Given the description of an element on the screen output the (x, y) to click on. 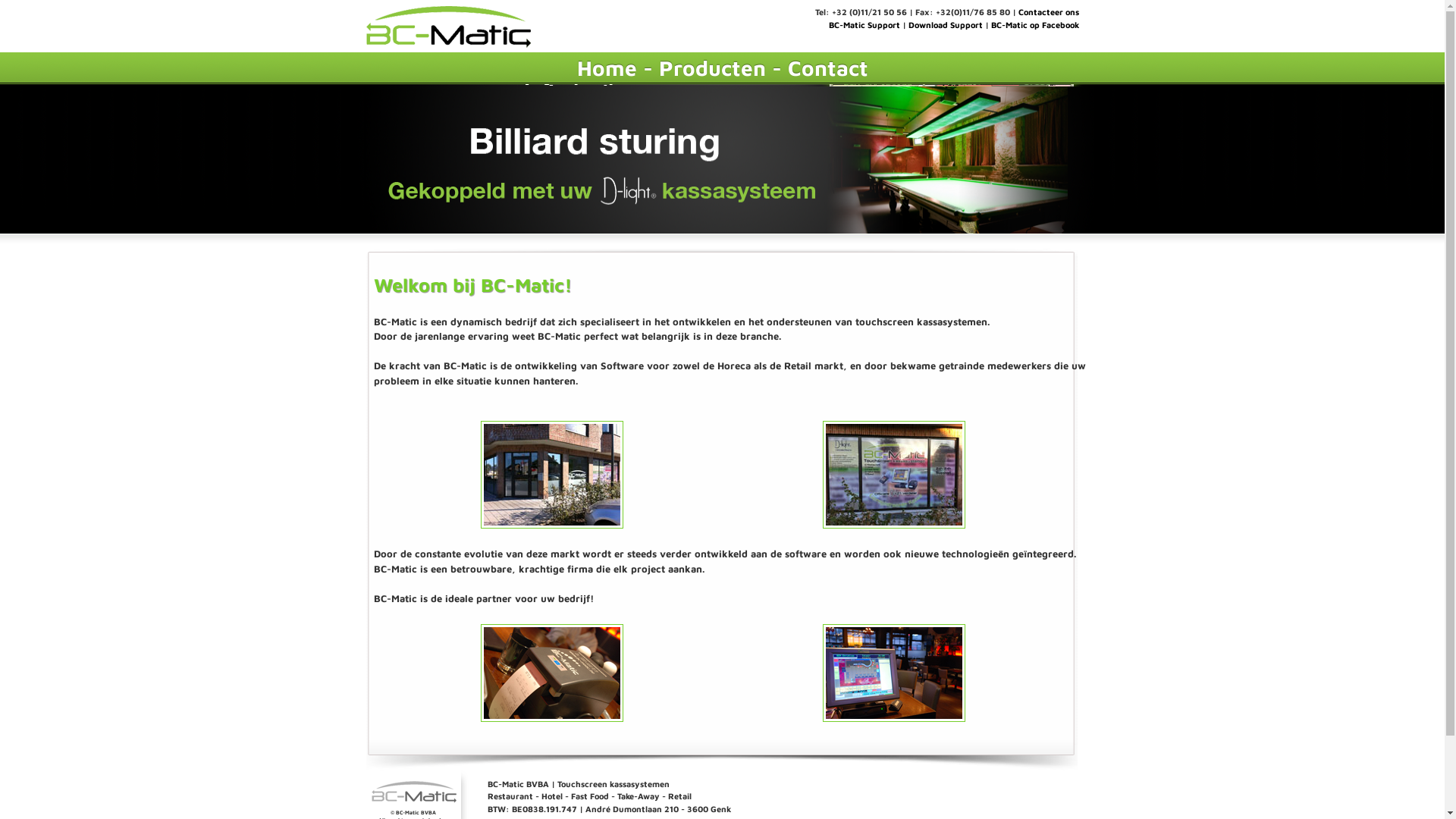
Download Support Element type: text (945, 24)
Producten Element type: text (711, 67)
Contact Element type: text (827, 67)
BC-Matic Support Element type: text (863, 24)
Home Element type: text (606, 67)
BC-Matic op Facebook Element type: text (1034, 24)
Contacteer ons Element type: text (1047, 11)
